Given the description of an element on the screen output the (x, y) to click on. 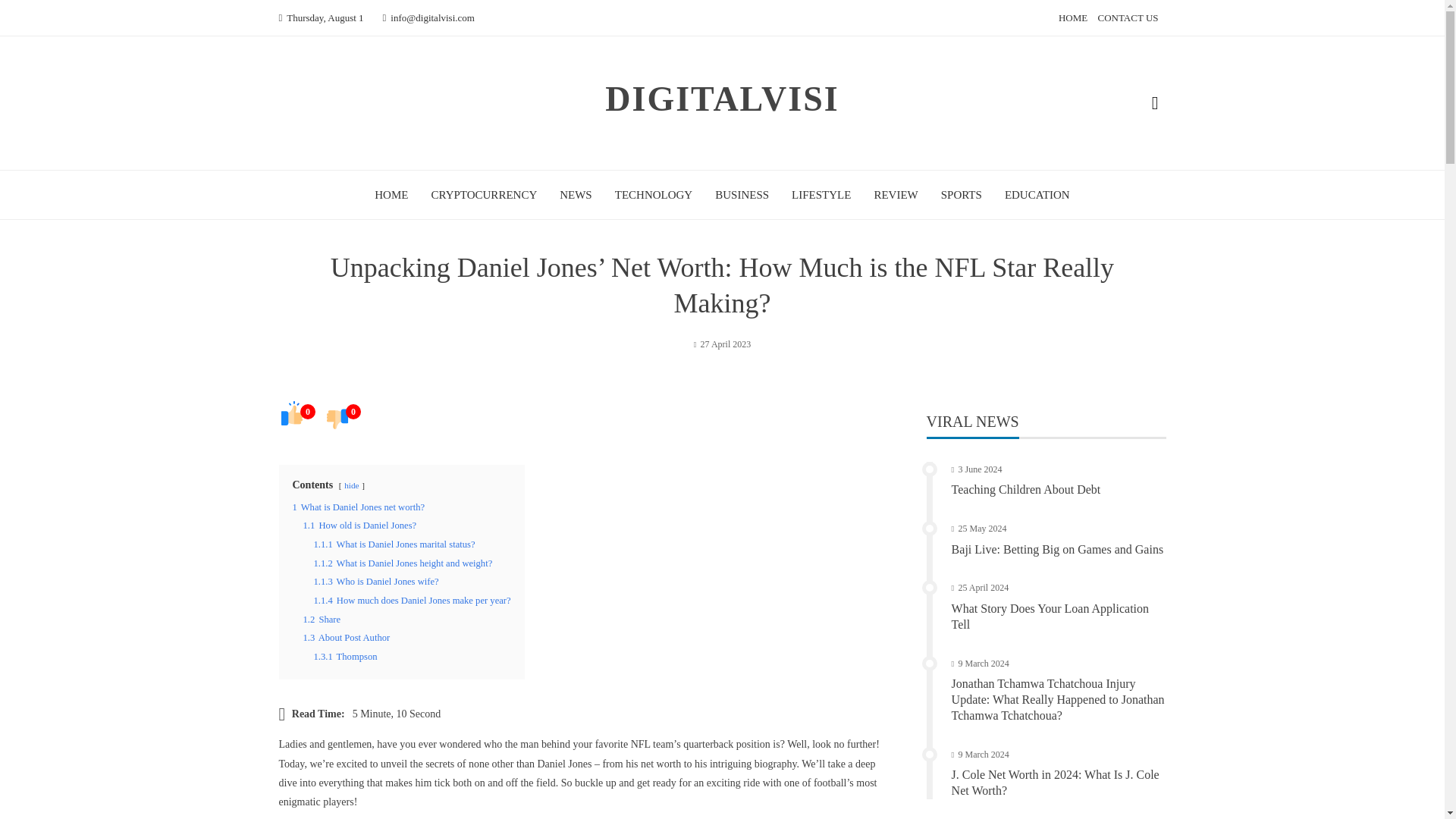
NEWS (575, 194)
1.1.1 What is Daniel Jones marital status? (395, 543)
REVIEW (895, 194)
1.1.2 What is Daniel Jones height and weight? (403, 562)
BUSINESS (741, 194)
1.1 How old is Daniel Jones? (359, 525)
HOME (390, 194)
CRYPTOCURRENCY (483, 194)
DIGITALVISI (721, 98)
1.1.3 Who is Daniel Jones wife? (376, 581)
1.3 About Post Author (346, 637)
1.3.1 Thompson (345, 656)
1.2 Share (321, 619)
HOME (1072, 17)
TECHNOLOGY (653, 194)
